Given the description of an element on the screen output the (x, y) to click on. 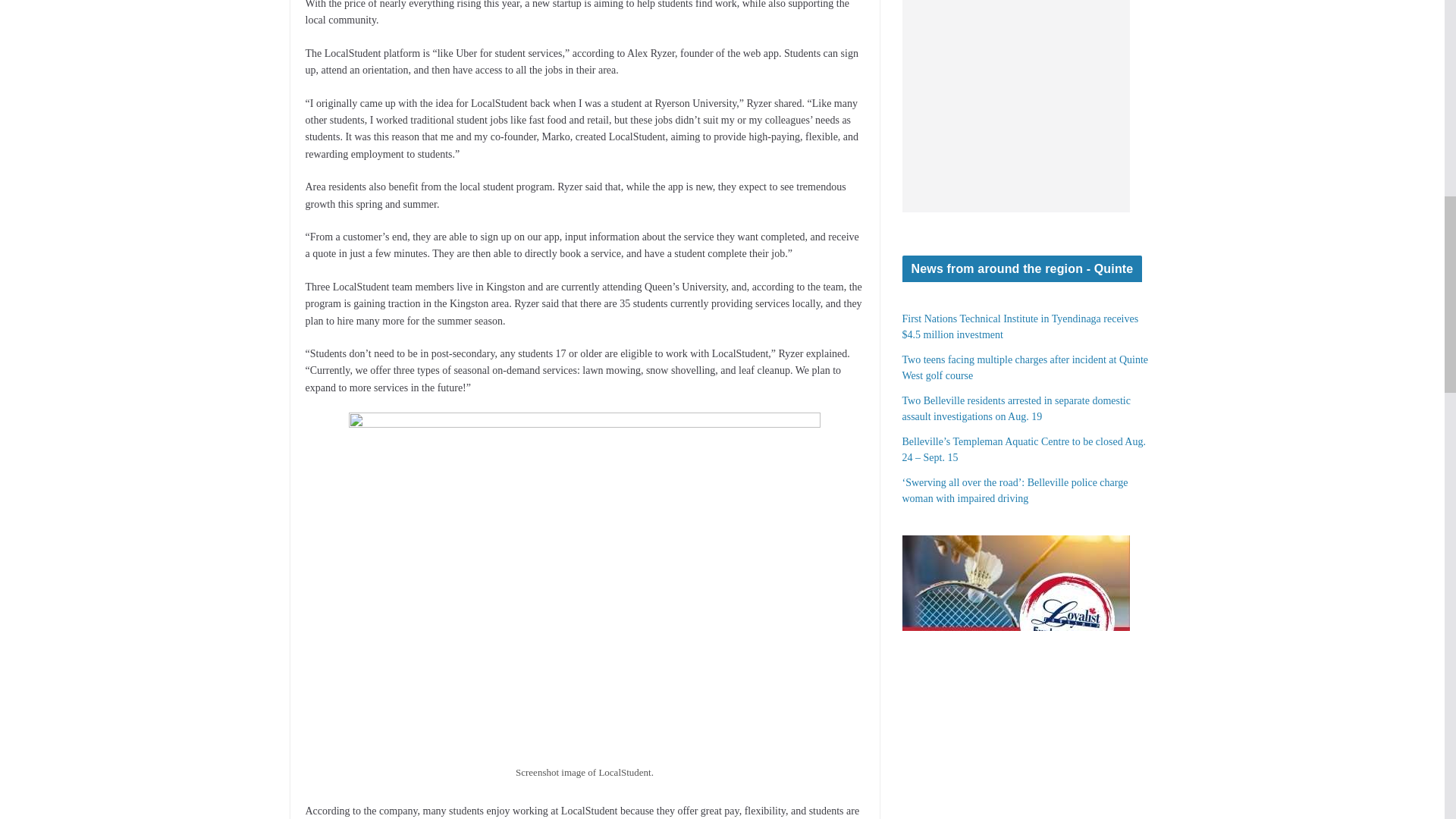
Advertisement (1015, 106)
